Given the description of an element on the screen output the (x, y) to click on. 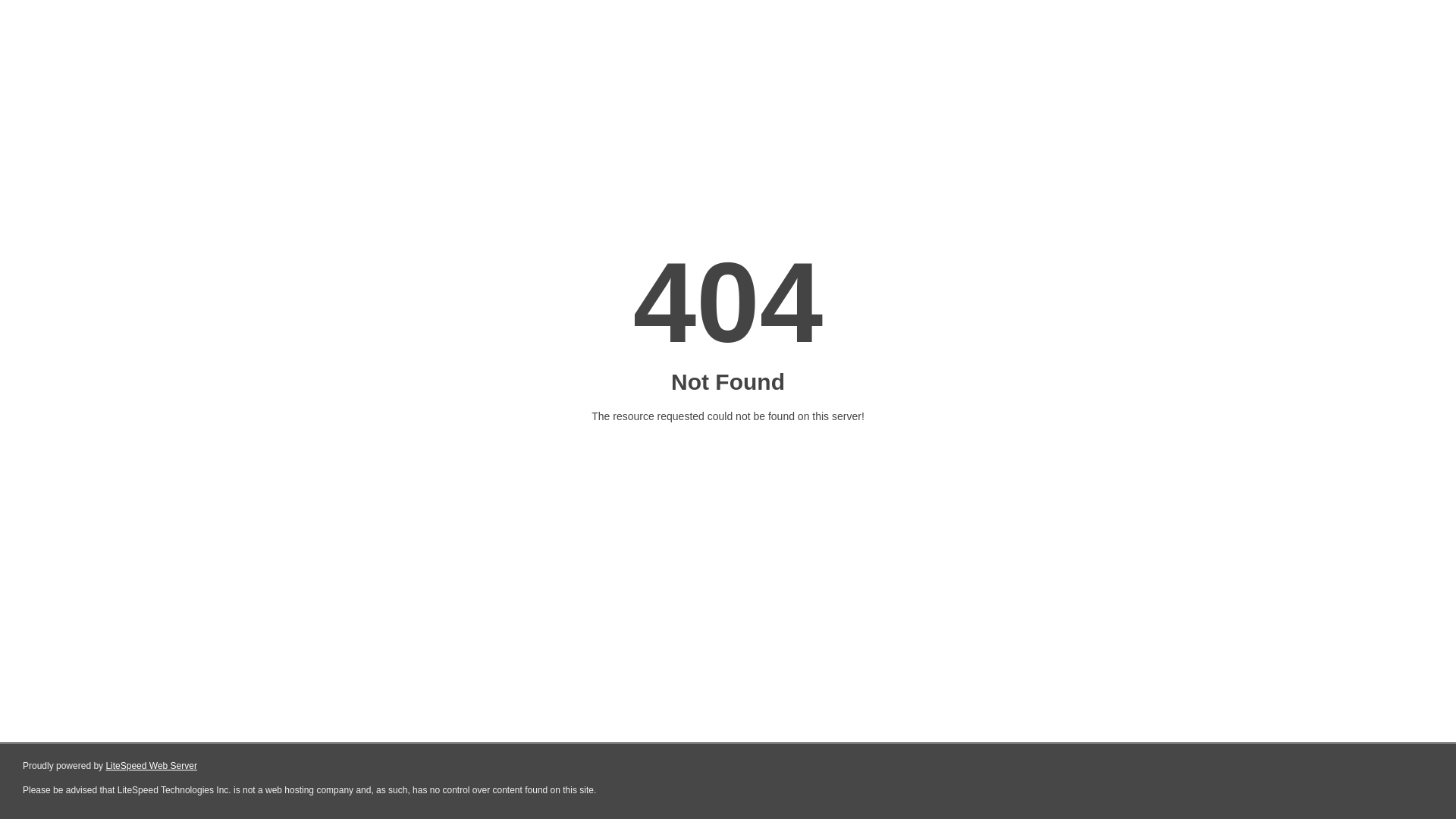
LiteSpeed Web Server Element type: text (151, 765)
